Given the description of an element on the screen output the (x, y) to click on. 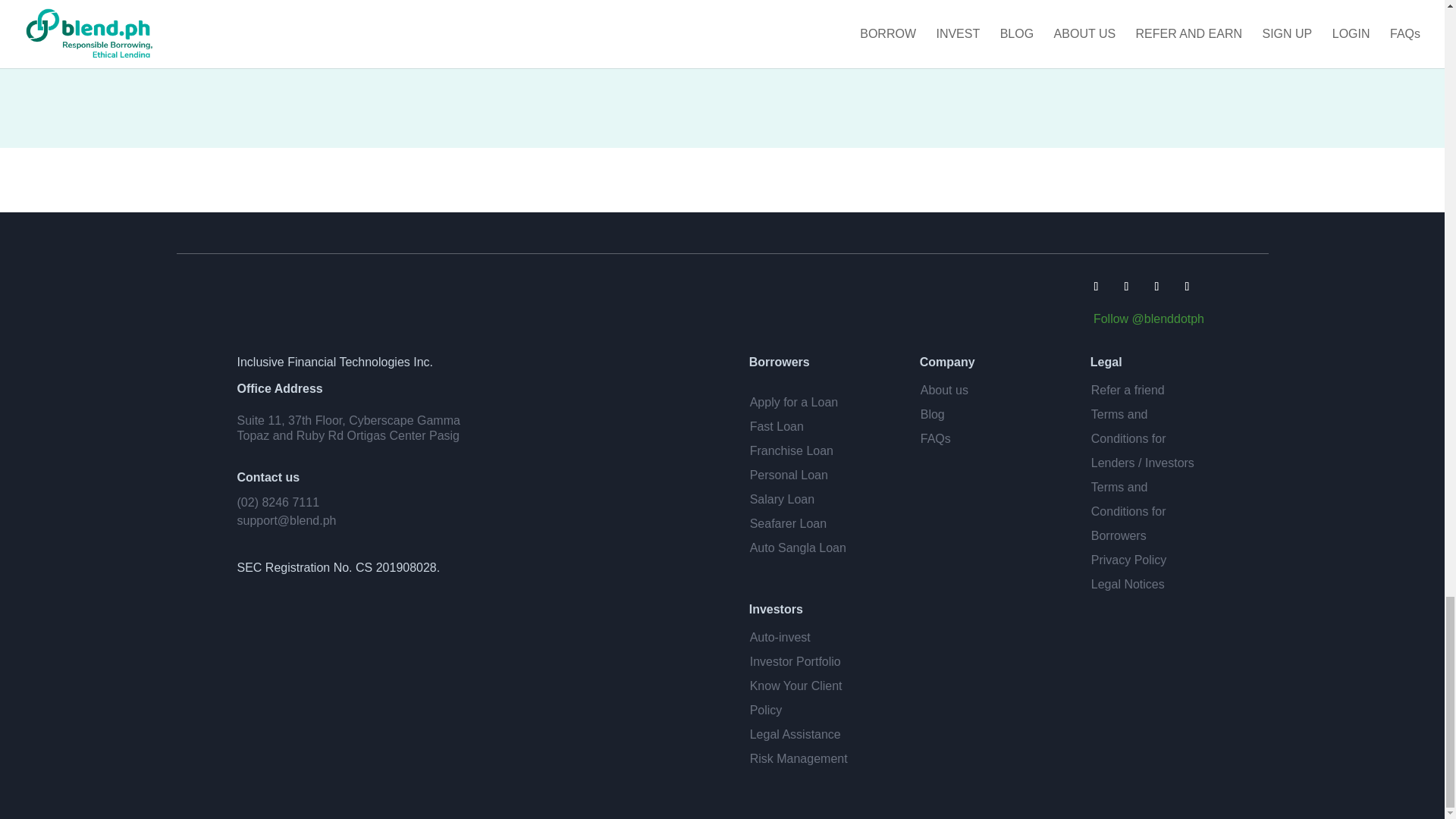
Franchise Loan (790, 450)
Apply for a Loan (793, 401)
Auto Sangla Loan (797, 547)
Follow on X (1125, 285)
Fast Loan (776, 426)
Investor Portfolio (795, 661)
Know Your Client Policy (796, 697)
Salary Loan (781, 499)
Risk Management (798, 758)
Personal Loan (788, 474)
Seafarer Loan (788, 522)
Follow on Instagram (1186, 285)
Legal Assistance (795, 734)
Follow on Youtube (1156, 285)
Auto-invest (779, 636)
